Given the description of an element on the screen output the (x, y) to click on. 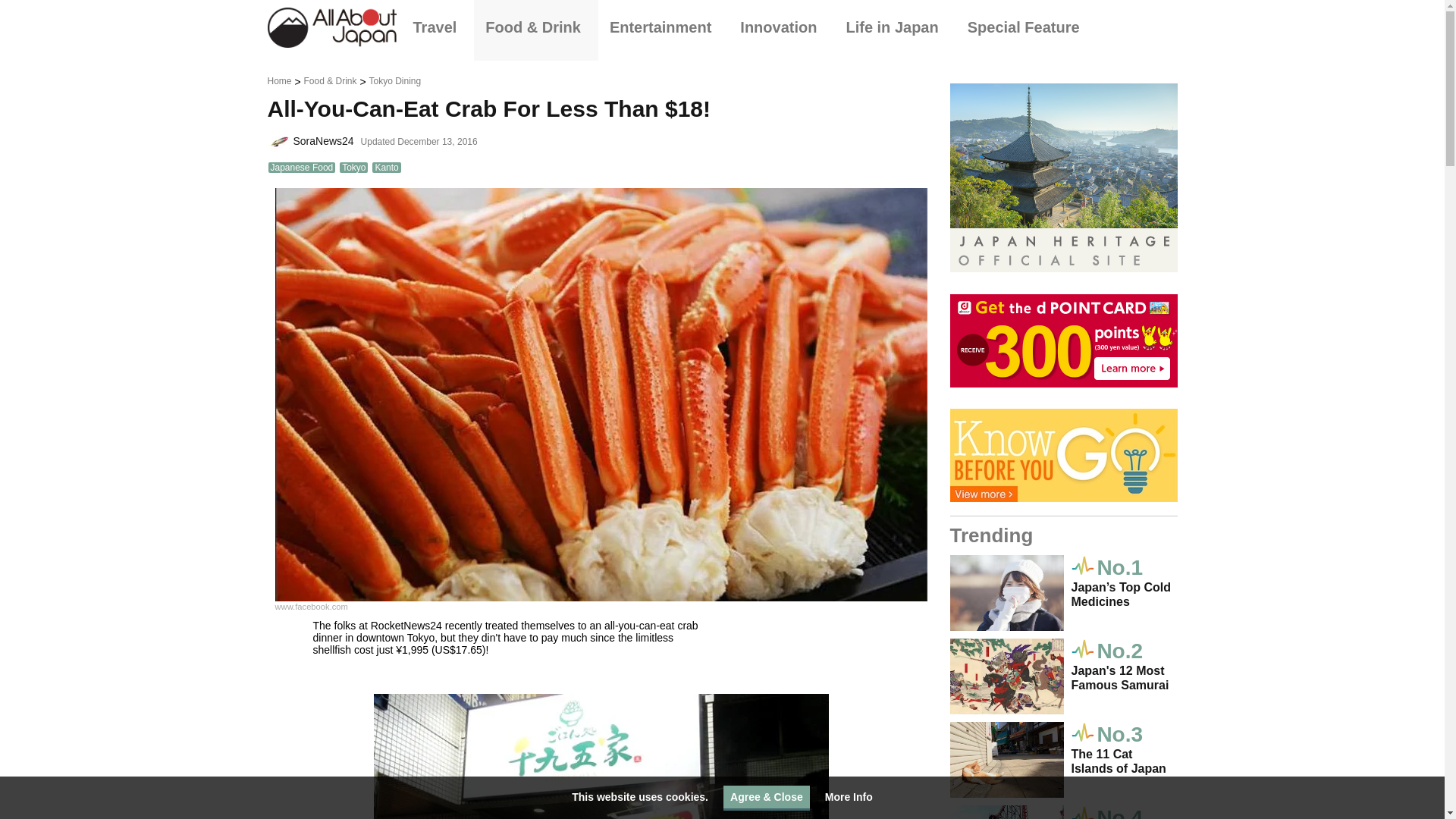
Innovation (781, 27)
Travel (437, 27)
Entertainment (663, 27)
